Given the description of an element on the screen output the (x, y) to click on. 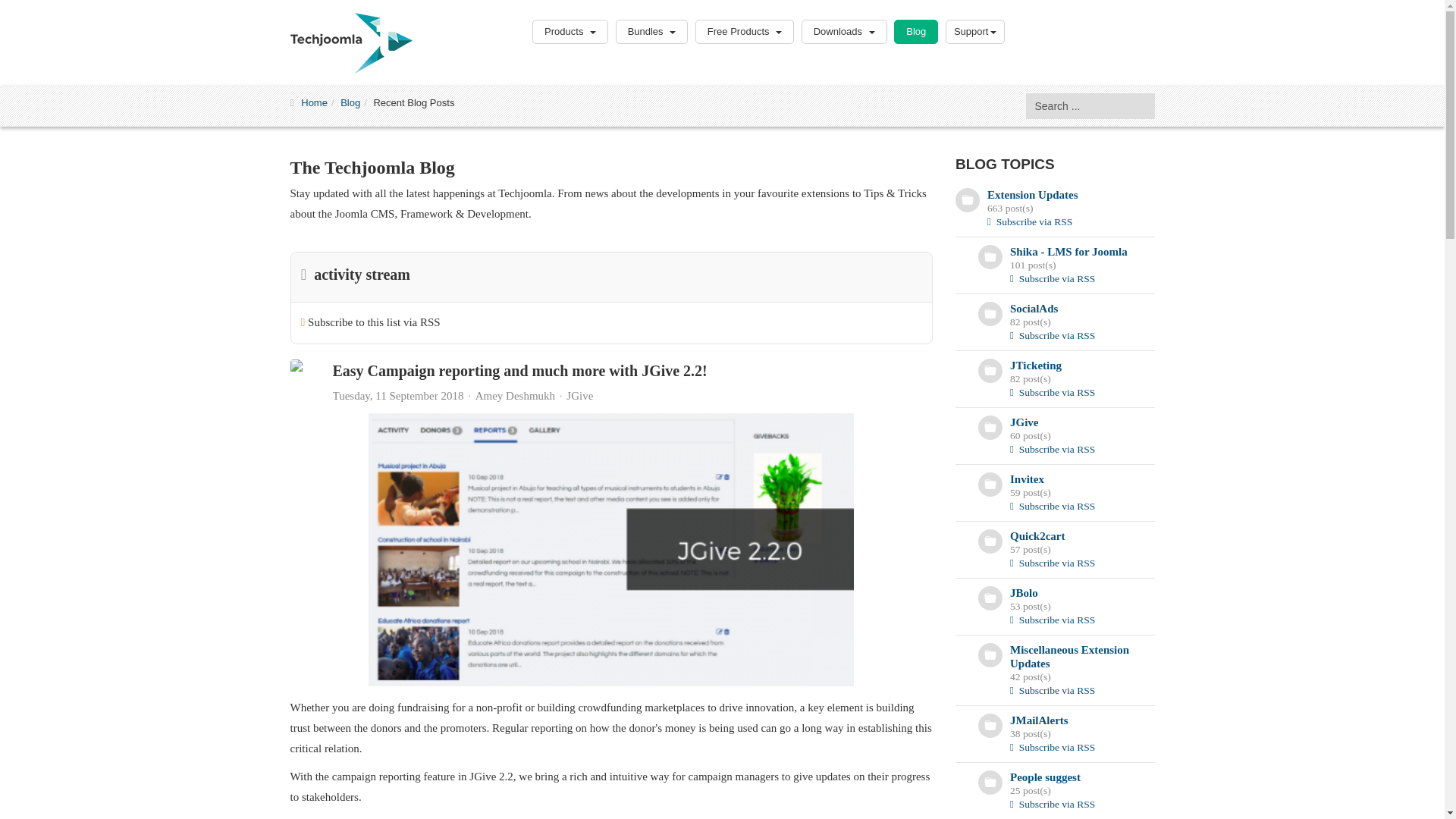
Subscribe via RSS (1052, 392)
Subscribe via RSS (1052, 562)
Search ... (1089, 105)
Search ... (1089, 105)
Subscribe via RSS (1052, 278)
Subscribe to this list via RSS (374, 322)
Subscribe via RSS (1052, 449)
Subscribe via RSS (1052, 505)
Subscribe via RSS (1052, 335)
Subscribe via RSS (1029, 221)
